Given the description of an element on the screen output the (x, y) to click on. 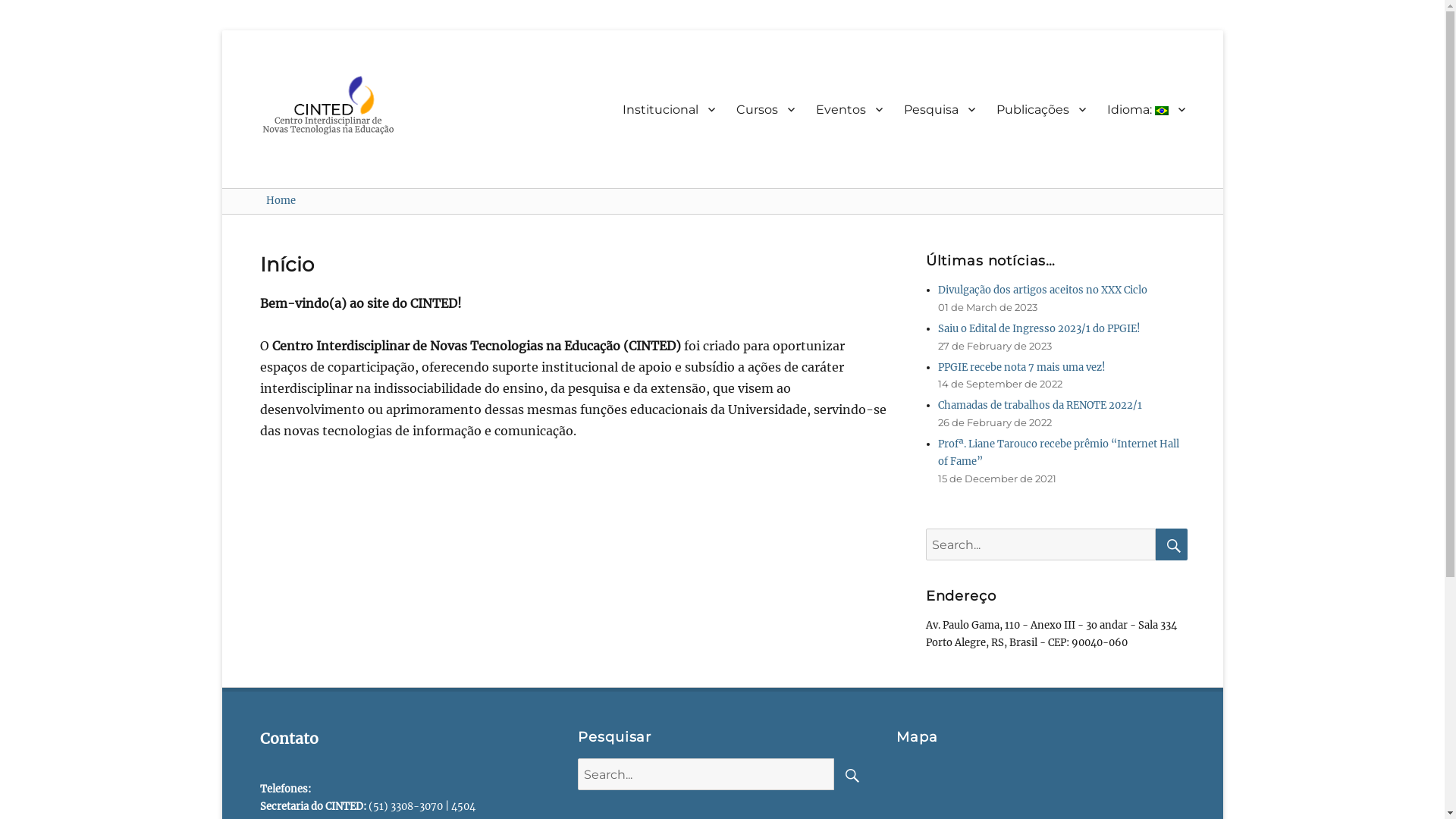
Search for: Element type: hover (1040, 544)
Idioma:  Element type: text (1145, 109)
Saiu o Edital de Ingresso 2023/1 do PPGIE! Element type: text (1039, 328)
Chamadas de trabalhos da RENOTE 2022/1 Element type: text (1040, 404)
Search for: Element type: hover (705, 774)
Home Element type: text (280, 200)
Pesquisa Element type: text (939, 109)
CINTED Element type: text (297, 78)
PPGIE recebe nota 7 mais uma vez! Element type: text (1021, 366)
Institucional Element type: text (667, 109)
Cursos Element type: text (764, 109)
Eventos Element type: text (849, 109)
